Given the description of an element on the screen output the (x, y) to click on. 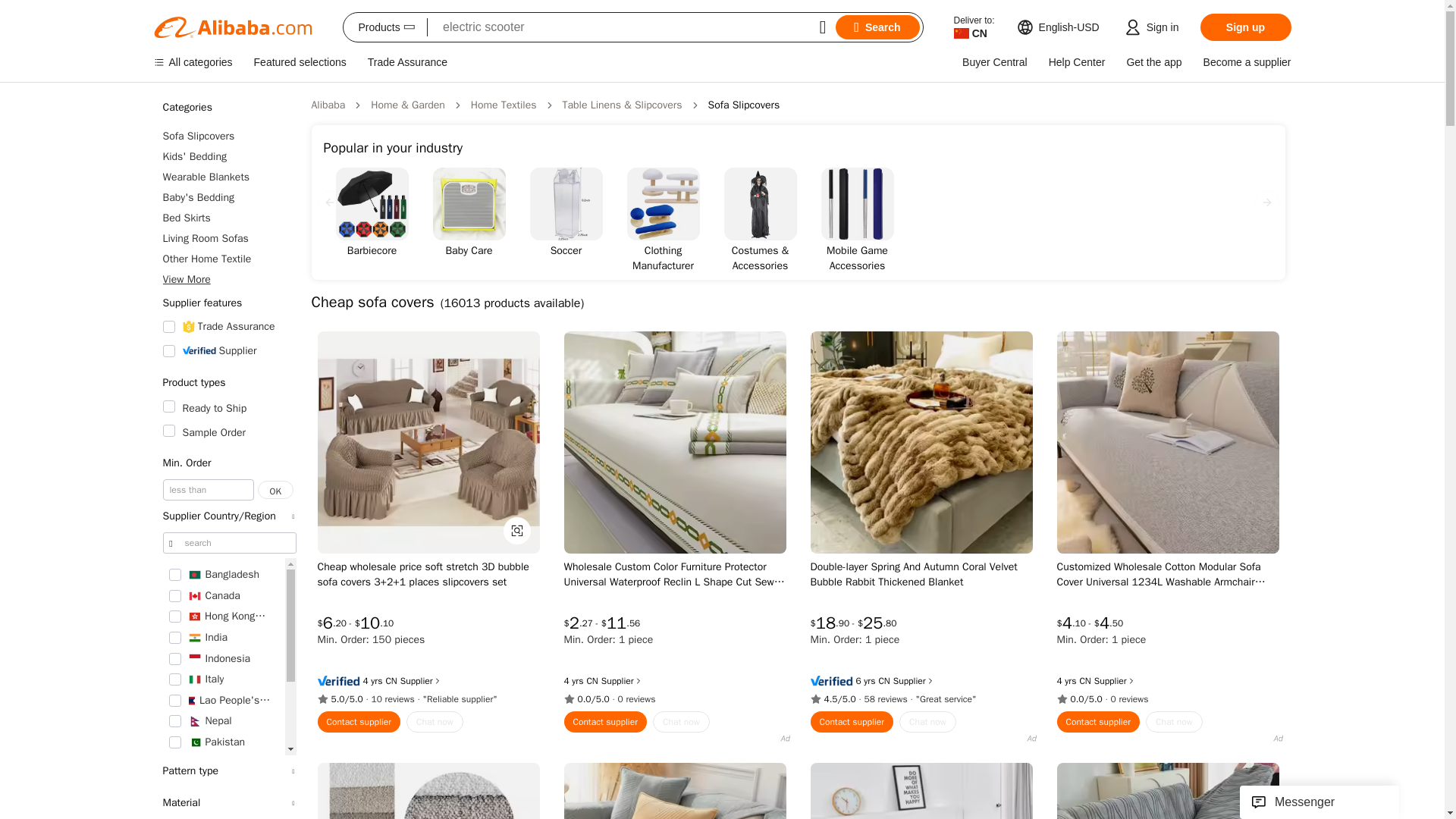
Categories (228, 107)
Wearable Blankets (228, 176)
Sofa Slipcovers (228, 135)
